Given the description of an element on the screen output the (x, y) to click on. 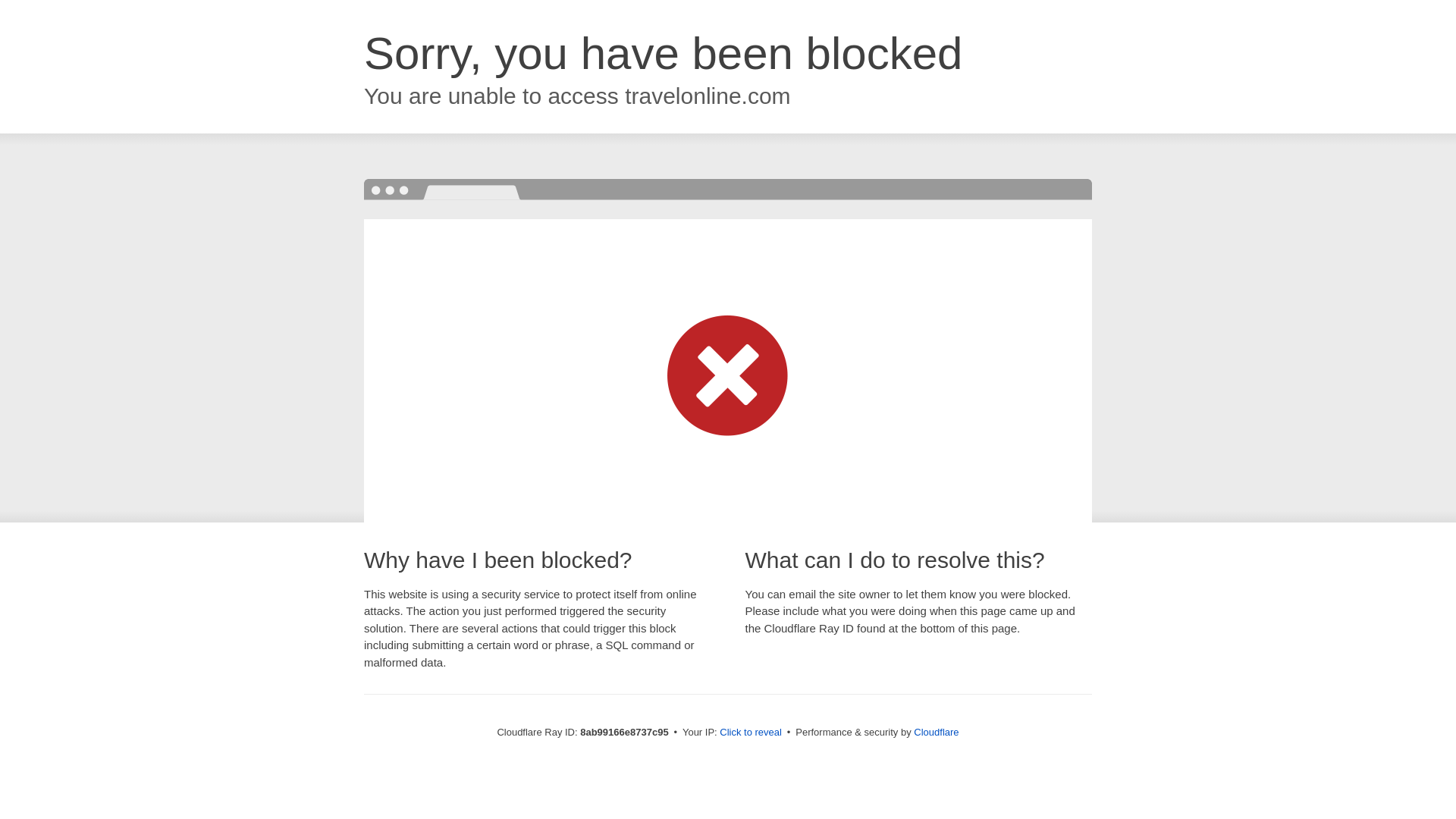
Click to reveal (750, 732)
Cloudflare (936, 731)
